Given the description of an element on the screen output the (x, y) to click on. 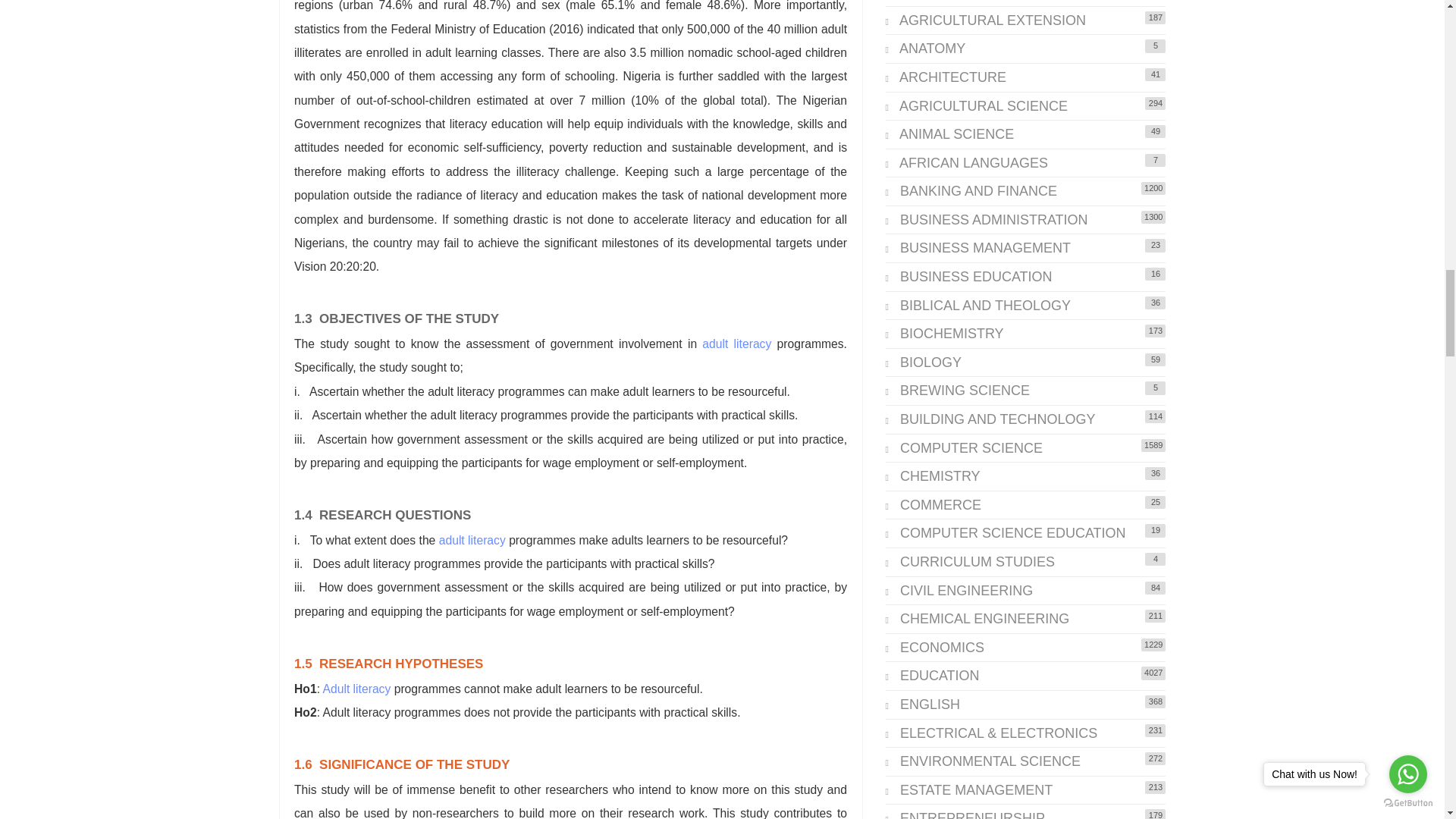
adult literacy (736, 343)
adult literacy (472, 540)
Adult literacy (357, 688)
